Given the description of an element on the screen output the (x, y) to click on. 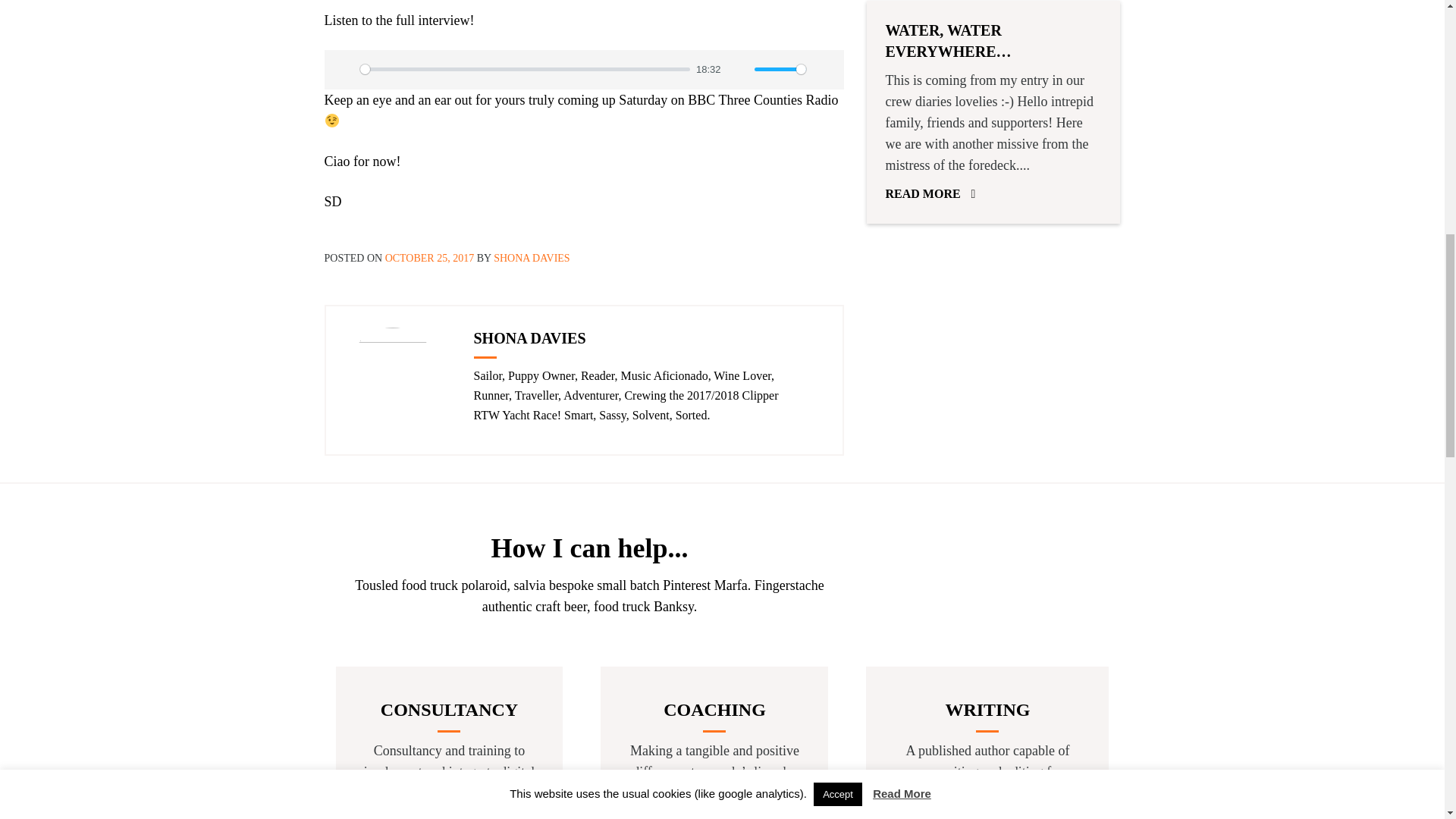
Play (343, 69)
0 (524, 69)
Settings (822, 69)
Mute (738, 69)
1 (780, 69)
